Given the description of an element on the screen output the (x, y) to click on. 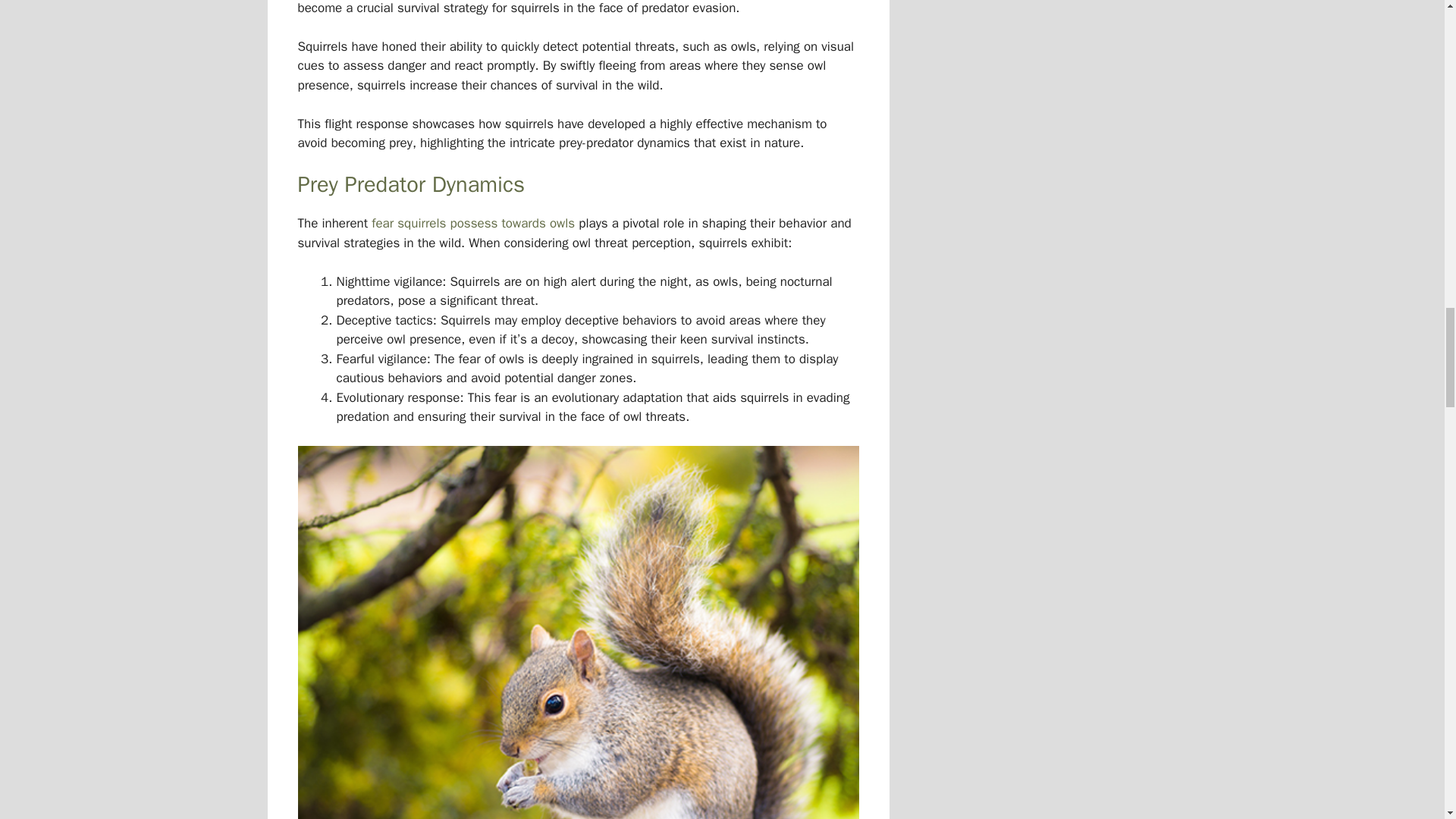
fear squirrels possess towards owls (473, 222)
